Given the description of an element on the screen output the (x, y) to click on. 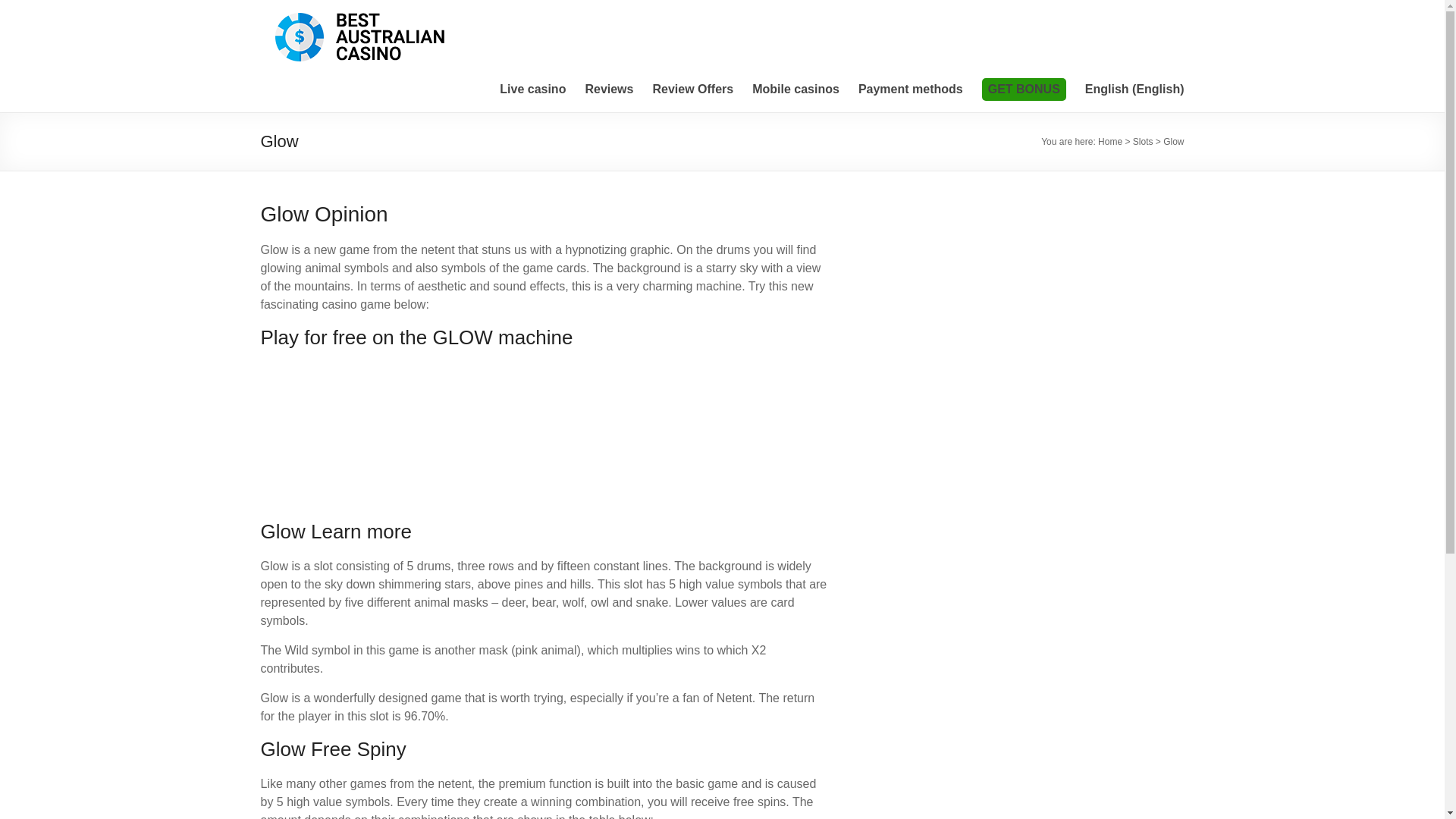
Live casino (532, 88)
Reviews (609, 88)
English (1134, 88)
Review Offers (692, 88)
Go to the Slots Category archives. (1142, 141)
Mobile casinos (796, 88)
Go to Home (1109, 141)
Payment methods (910, 88)
